Given the description of an element on the screen output the (x, y) to click on. 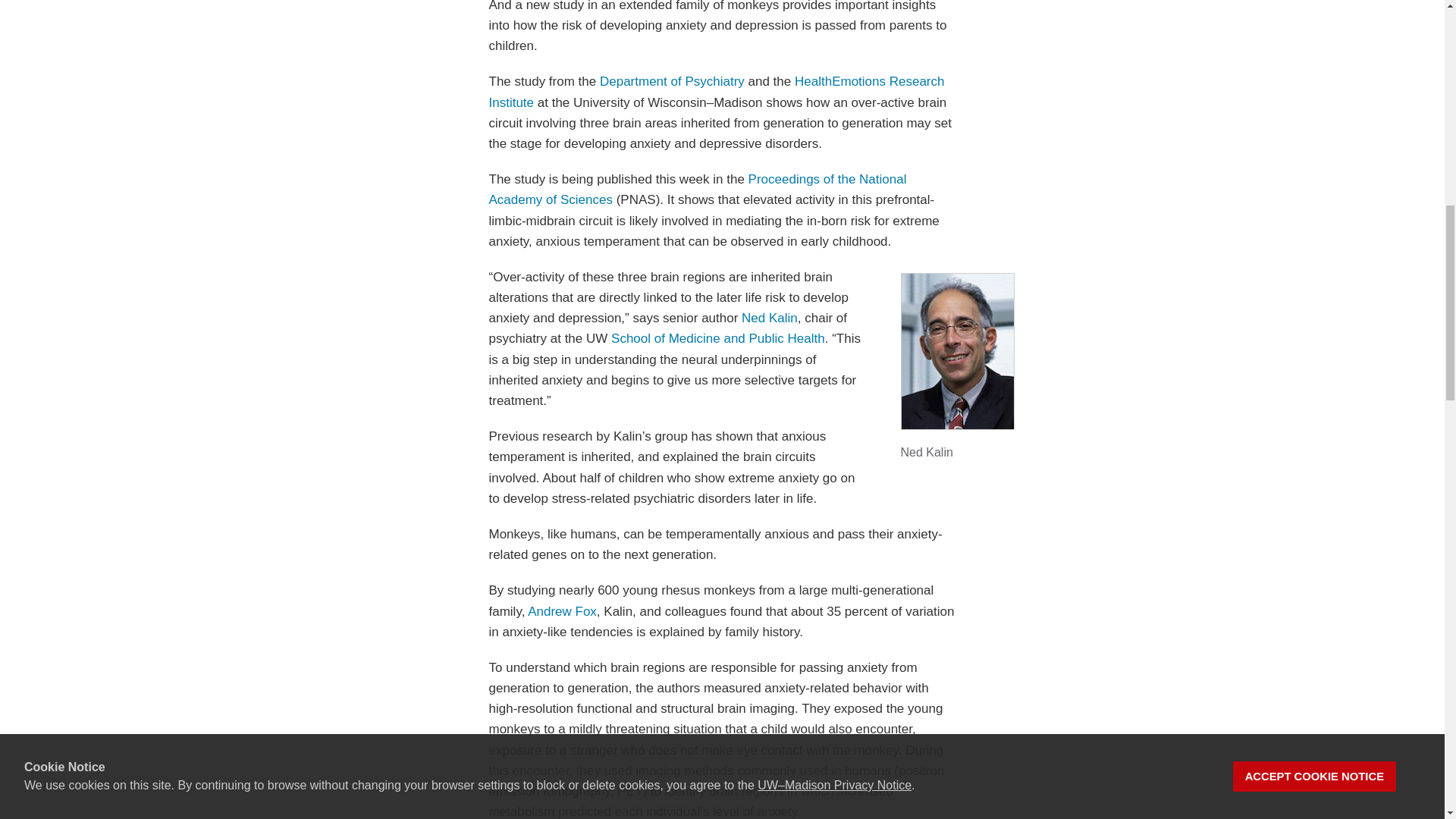
Proceedings of the National Academy of Sciences (696, 189)
Ned Kalin (769, 318)
HealthEmotions Research Institute (715, 91)
School of Medicine and Public Health (718, 338)
Department of Psychiatry (671, 81)
Andrew Fox (561, 611)
